Given the description of an element on the screen output the (x, y) to click on. 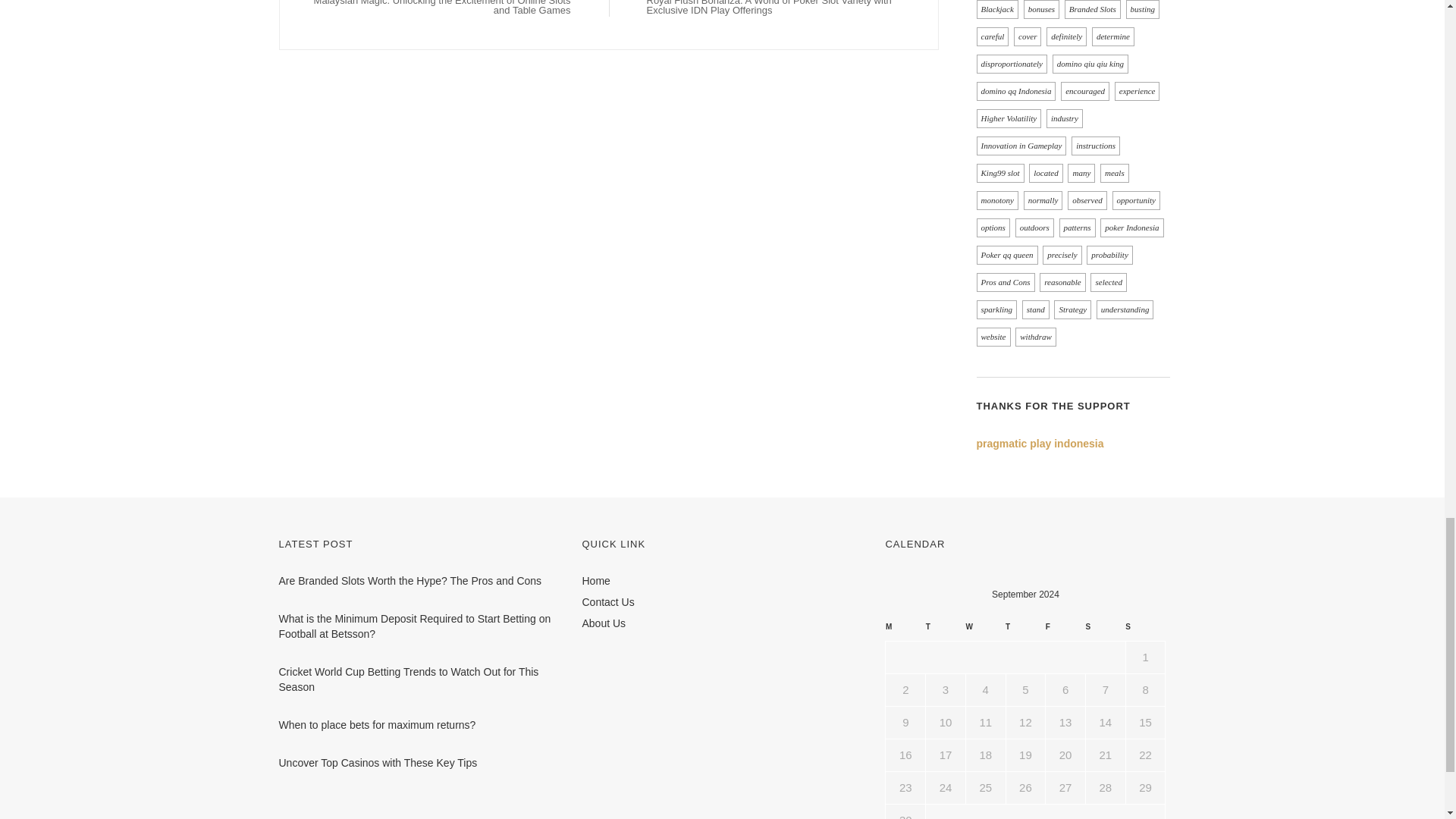
Friday (1065, 630)
Thursday (1025, 630)
Tuesday (946, 630)
Wednesday (985, 630)
Monday (905, 630)
Saturday (1104, 630)
Sunday (1145, 630)
